Given the description of an element on the screen output the (x, y) to click on. 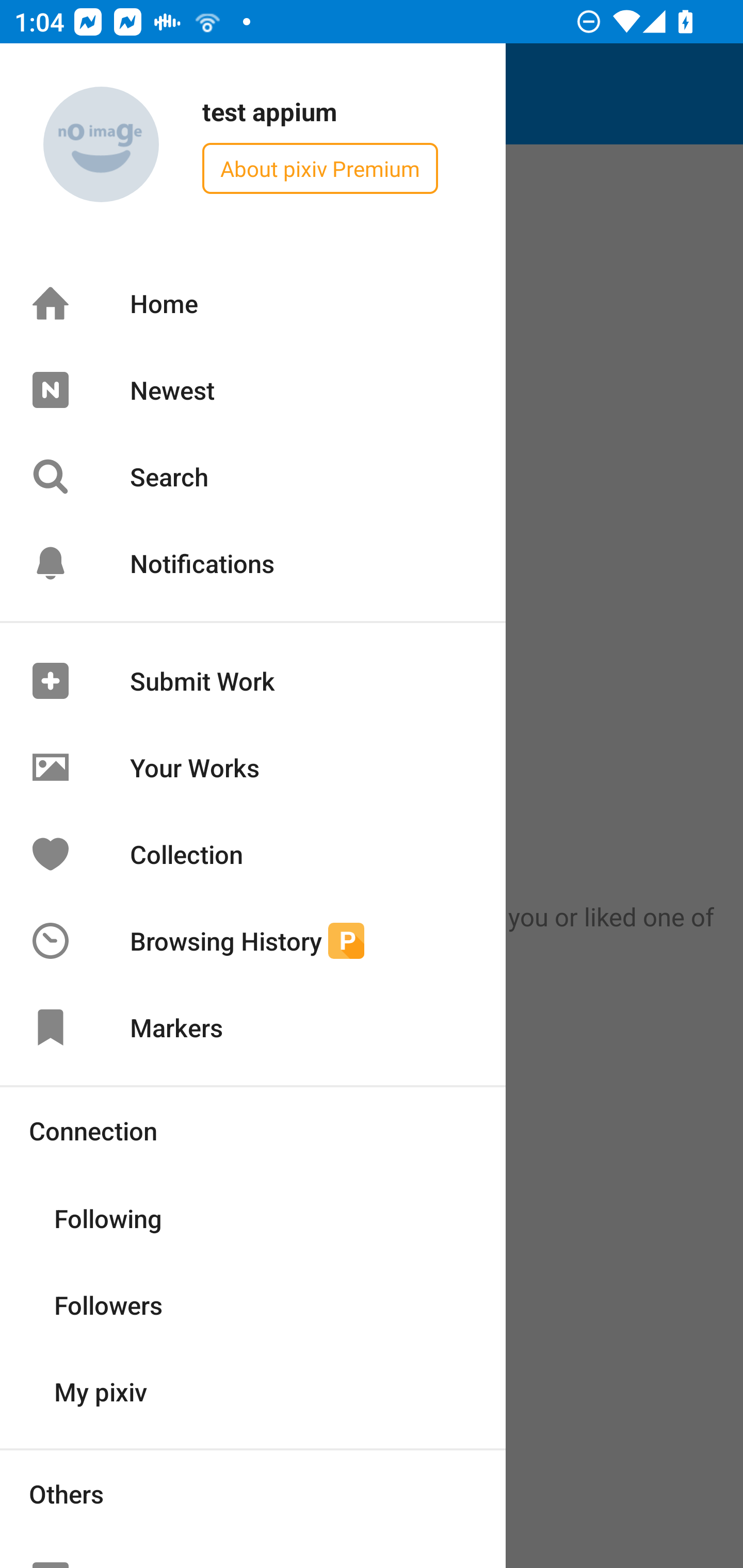
test appium About pixiv Premium (252, 144)
About pixiv Premium (320, 168)
Home (252, 303)
Newest (252, 389)
Search (252, 476)
Notifications (252, 563)
Submit Work (252, 681)
Your Works (252, 767)
Collection (252, 853)
Browsing History [P] (252, 940)
Markers (252, 1027)
　Following (252, 1217)
　Followers (252, 1303)
　My pixiv (252, 1389)
